Given the description of an element on the screen output the (x, y) to click on. 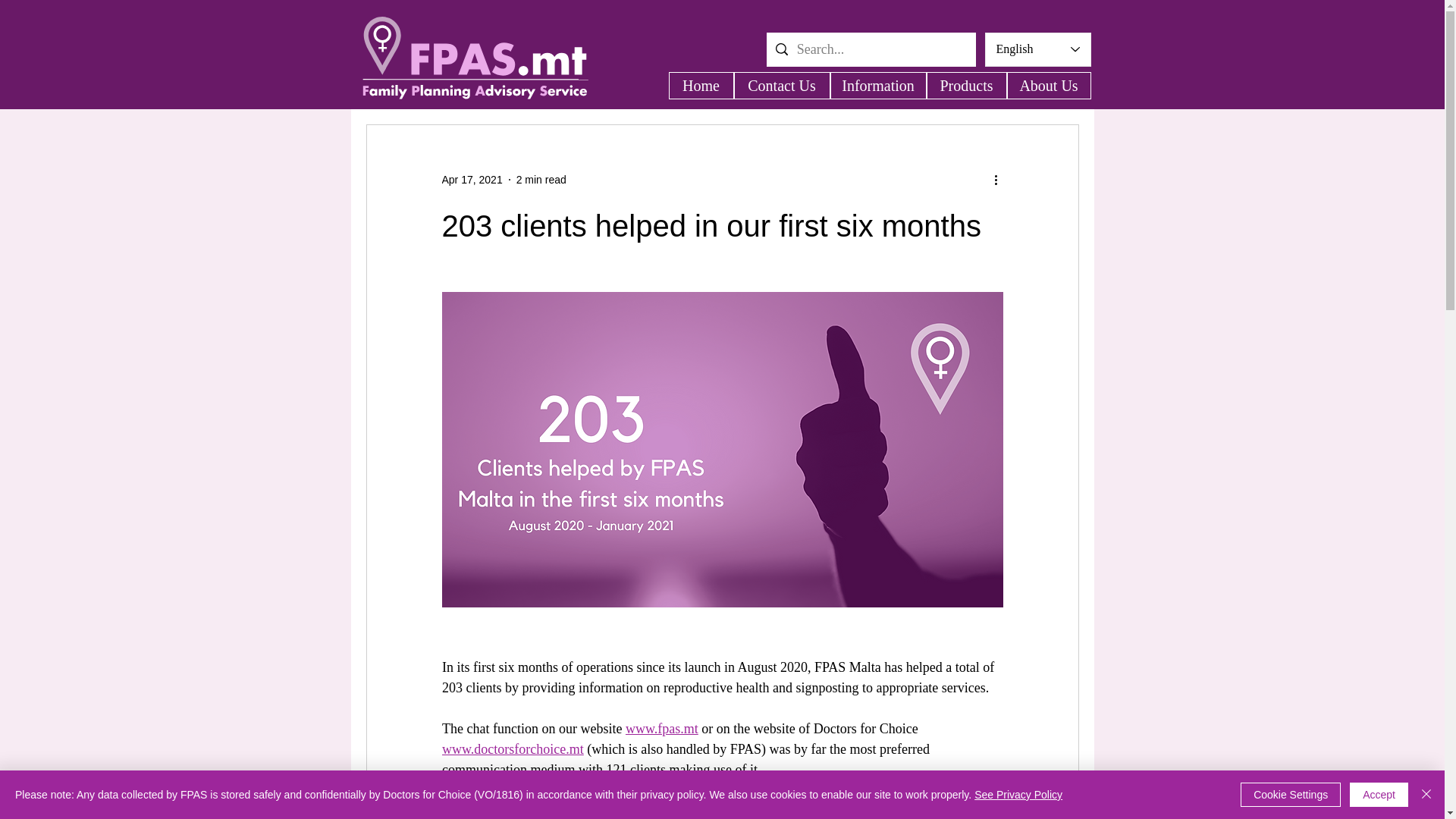
www.doctorsforchoice.mt (512, 749)
Contact Us (781, 85)
About Us (1048, 85)
Information (877, 85)
www.fpas.mt (660, 728)
See Privacy Policy (1018, 794)
Home (700, 85)
2 min read (541, 178)
Accept (1378, 794)
Apr 17, 2021 (471, 178)
